Given the description of an element on the screen output the (x, y) to click on. 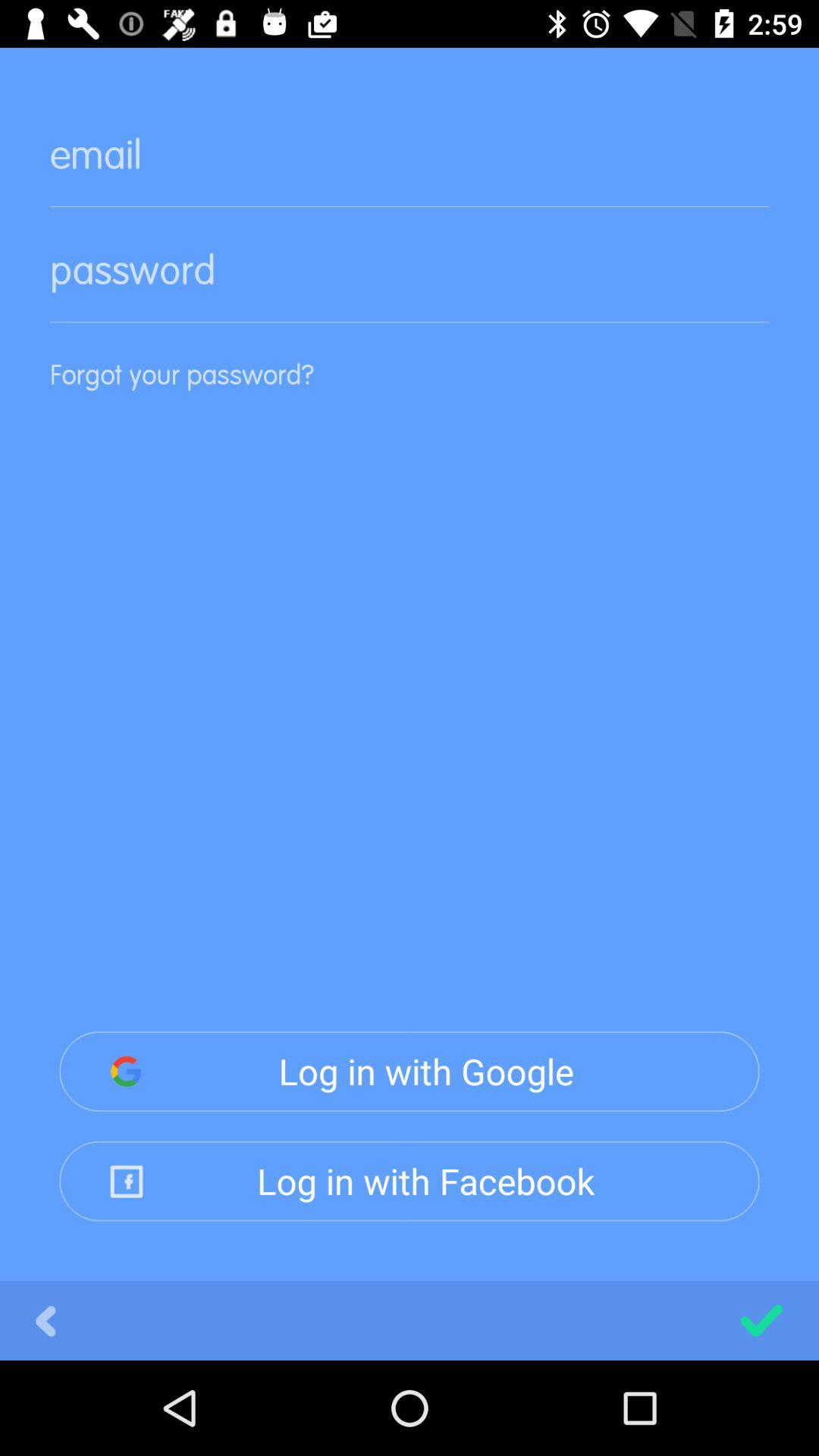
launch forgot your password? icon (409, 397)
